Given the description of an element on the screen output the (x, y) to click on. 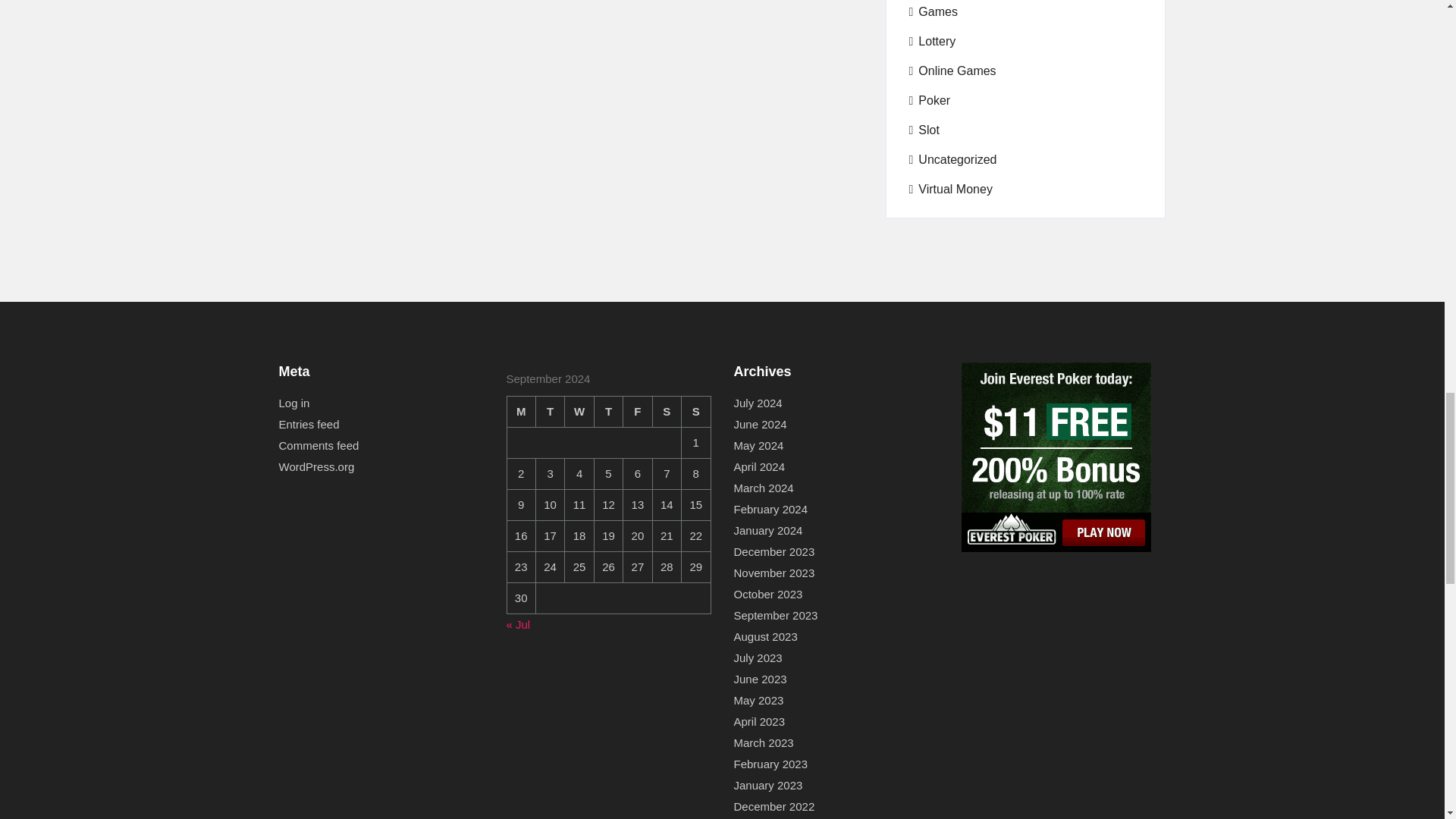
Virtual Money (949, 189)
Uncategorized (951, 159)
March 2024 (763, 487)
Tuesday (549, 410)
Games (932, 12)
Comments feed (319, 445)
Entries feed (309, 424)
Log in (294, 403)
Lottery (931, 41)
WordPress.org (317, 466)
